Given the description of an element on the screen output the (x, y) to click on. 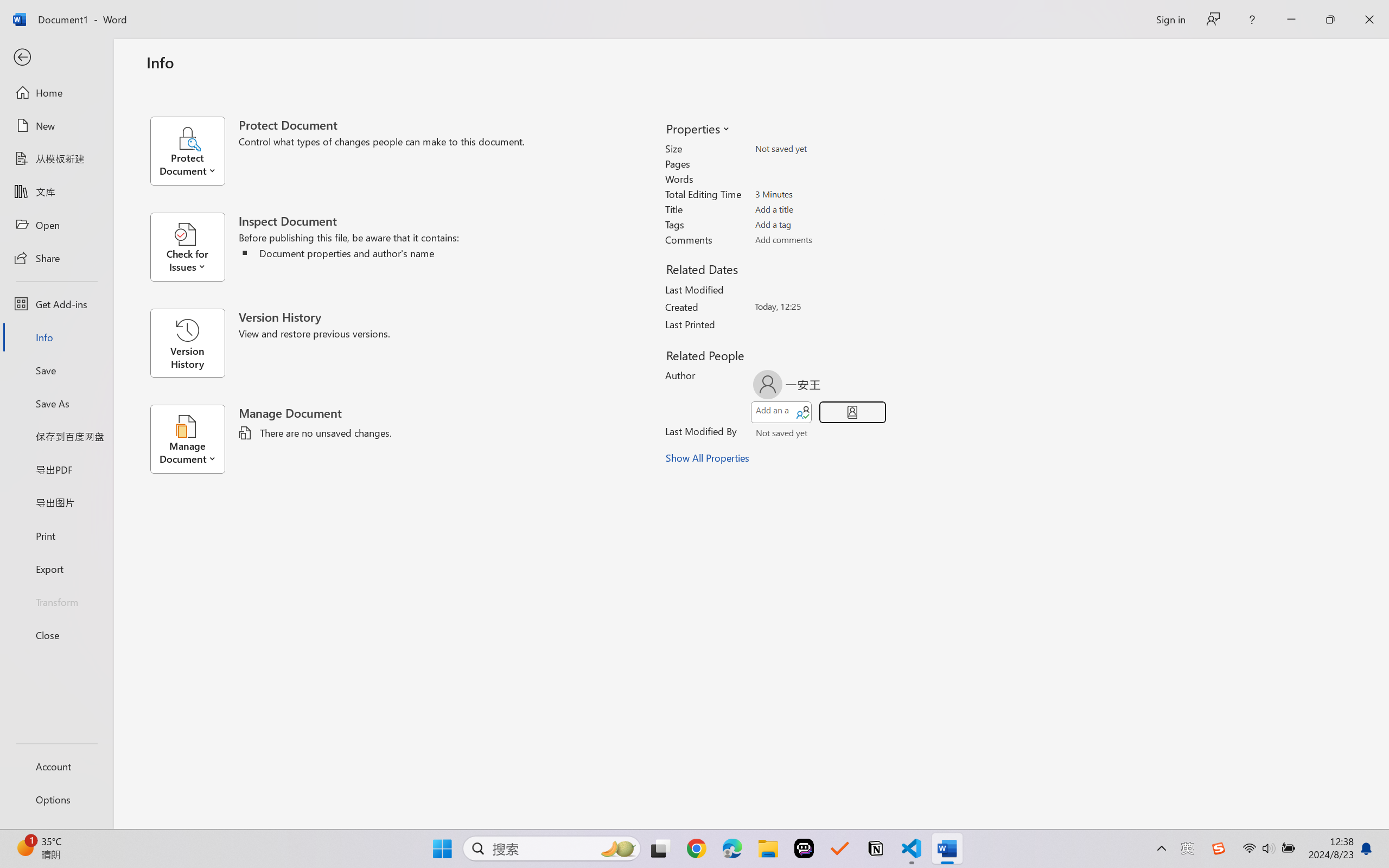
Version History (187, 343)
Get Add-ins (56, 303)
Browse Address Book (852, 435)
Size (818, 148)
Pages (818, 163)
